Given the description of an element on the screen output the (x, y) to click on. 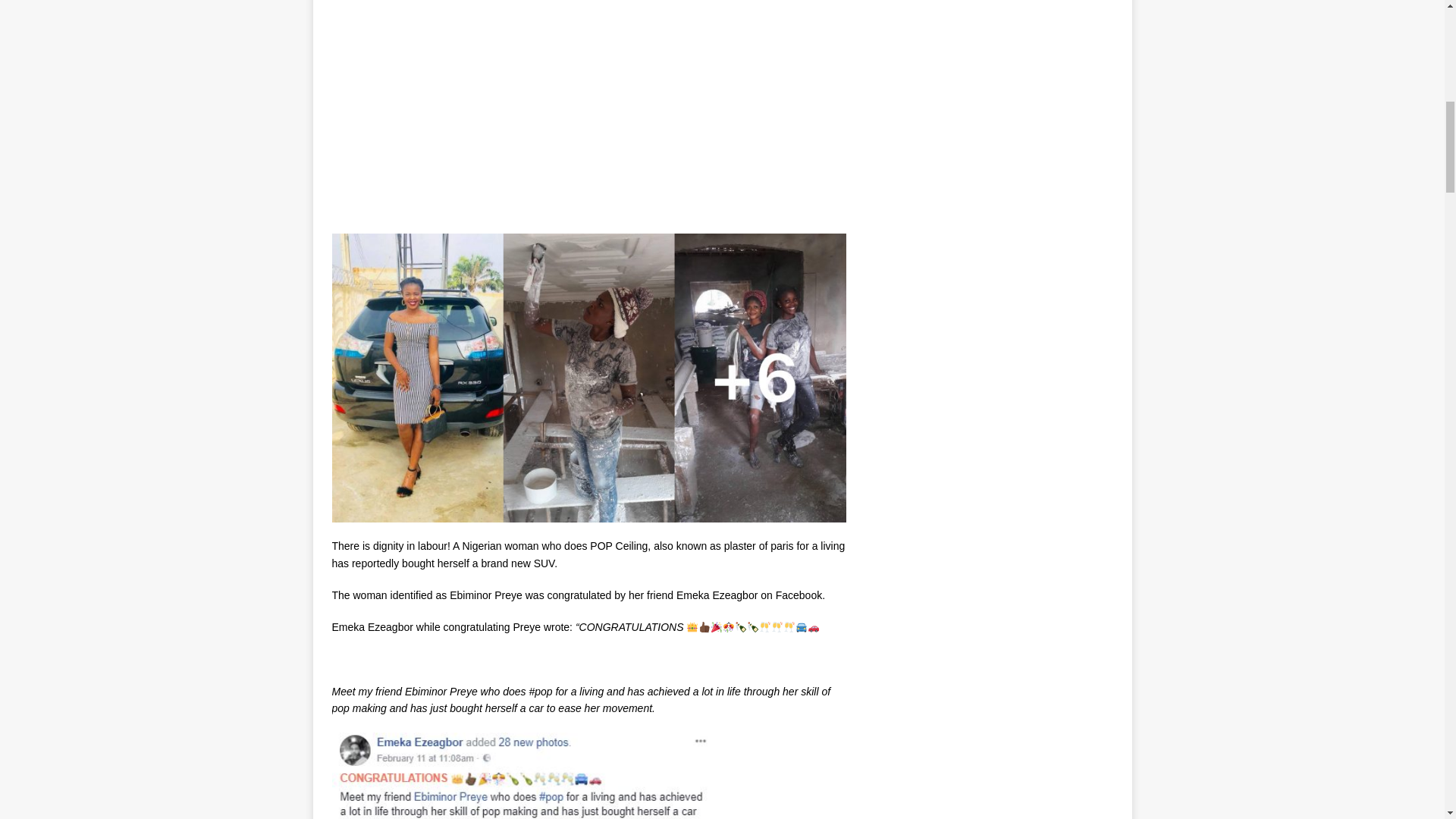
Advertisement (588, 111)
